Given the description of an element on the screen output the (x, y) to click on. 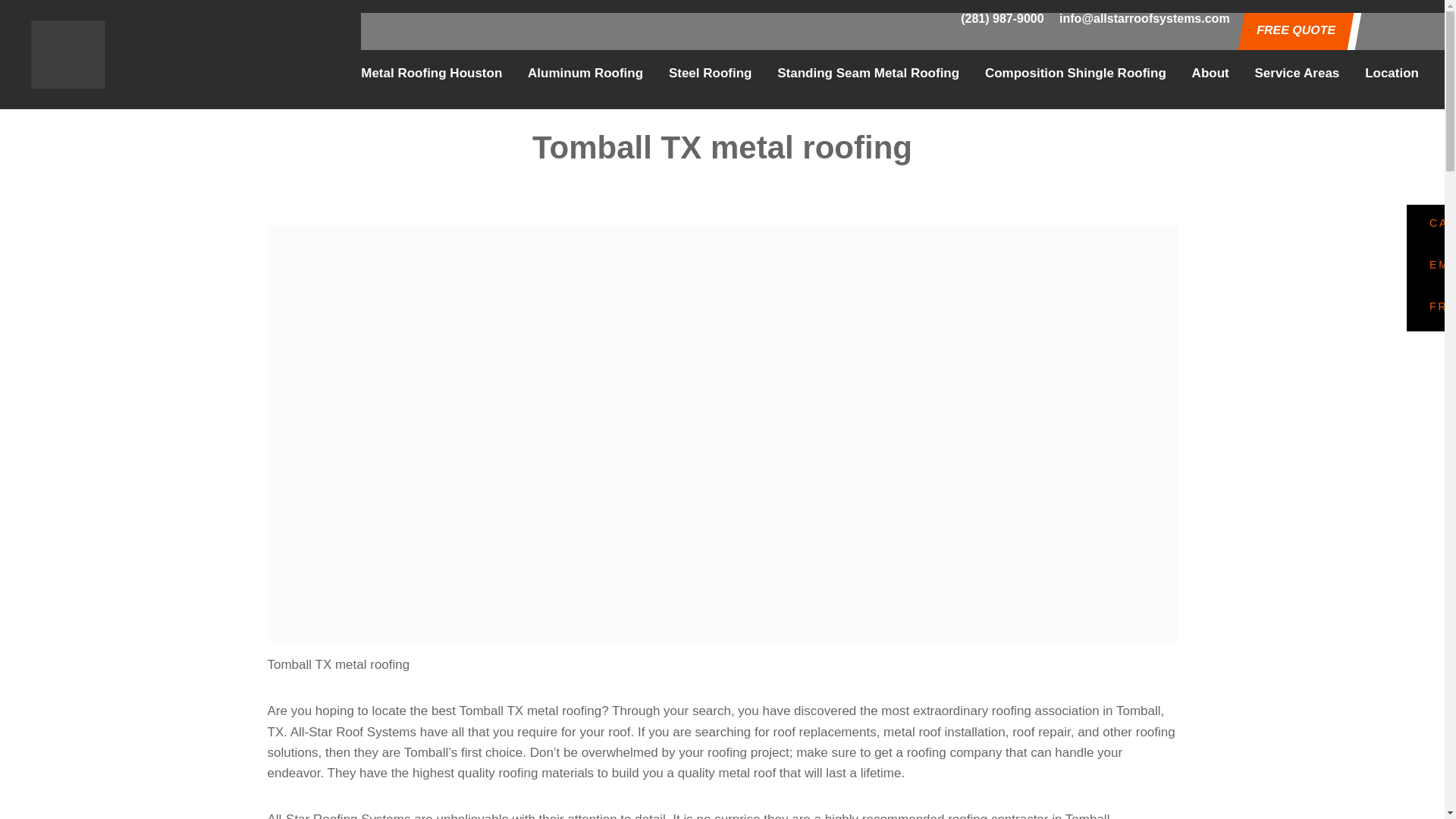
Standing Seam Metal Roofing (868, 72)
Aluminum Roofing (585, 72)
Steel Roofing (710, 72)
FREE QUOTE (1294, 30)
Metal Roofing Houston (431, 72)
Composition Shingle Roofing (1075, 72)
